Given the description of an element on the screen output the (x, y) to click on. 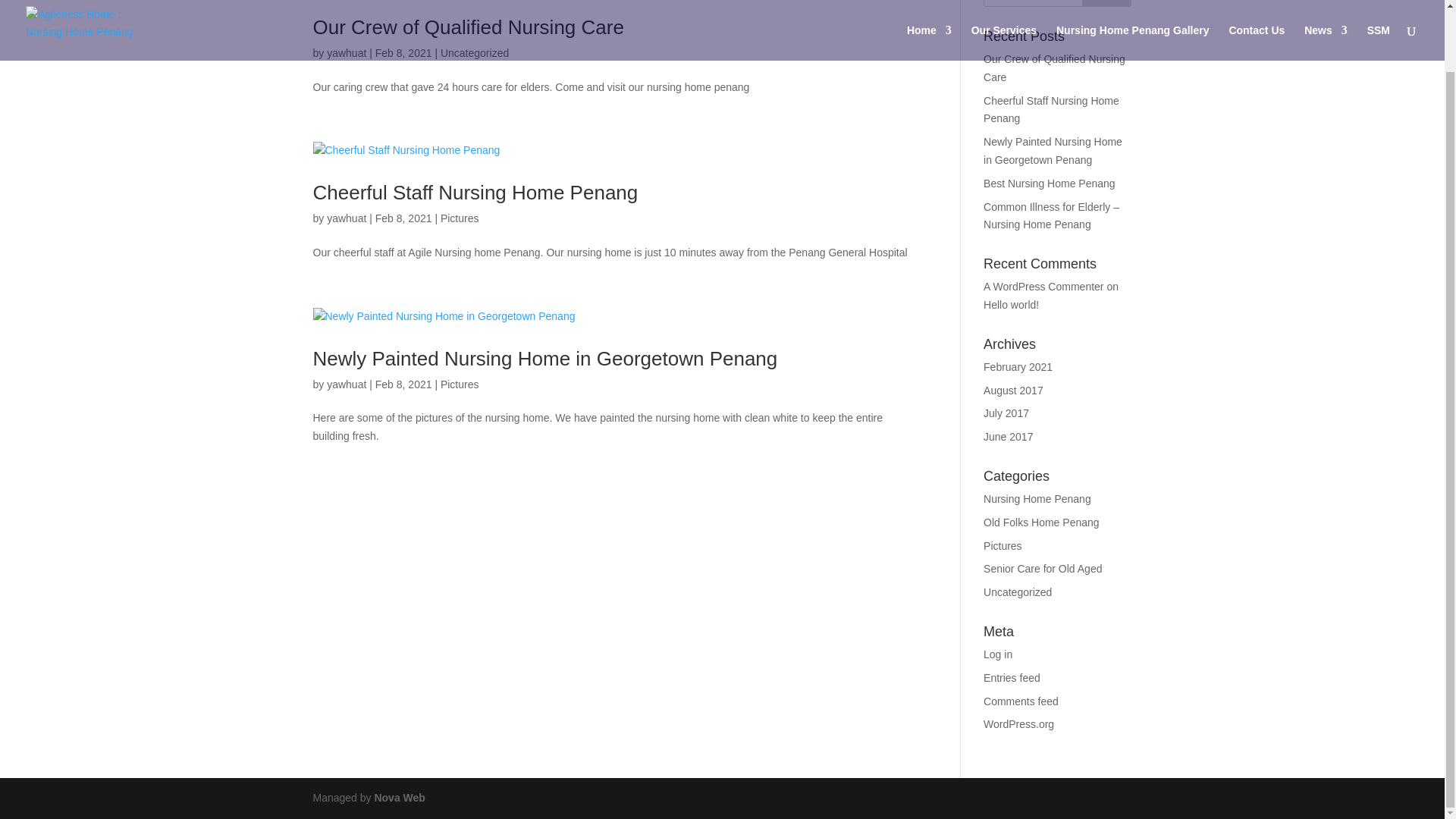
yawhuat (346, 384)
Posts by yawhuat (346, 218)
Cheerful Staff Nursing Home Penang (1051, 110)
Newly Painted Nursing Home in Georgetown Penang (1053, 150)
Pictures (460, 384)
Our Crew of Qualified Nursing Care (1054, 68)
February 2021 (1018, 367)
Cheerful Staff Nursing Home Penang (475, 191)
Best Nursing Home Penang (1049, 183)
Senior Care for Old Aged (1043, 568)
